Given the description of an element on the screen output the (x, y) to click on. 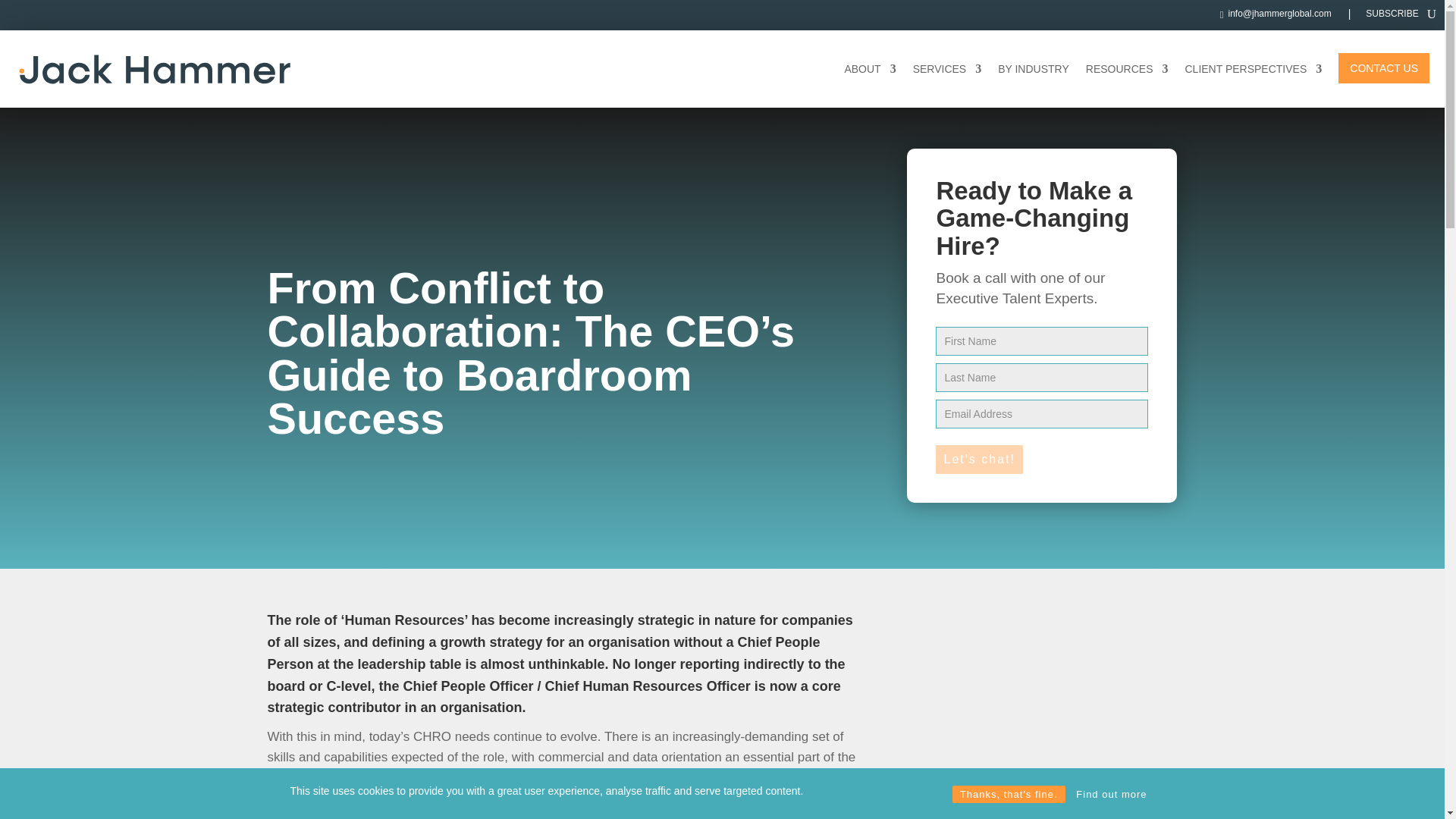
RESOURCES (1127, 68)
BY INDUSTRY (1032, 68)
SERVICES (946, 68)
CONTACT US (1383, 68)
Thanks, that's fine. (1008, 794)
CLIENT PERSPECTIVES (1253, 68)
SUBSCRIBE (1391, 16)
Find out more (1111, 794)
